Given the description of an element on the screen output the (x, y) to click on. 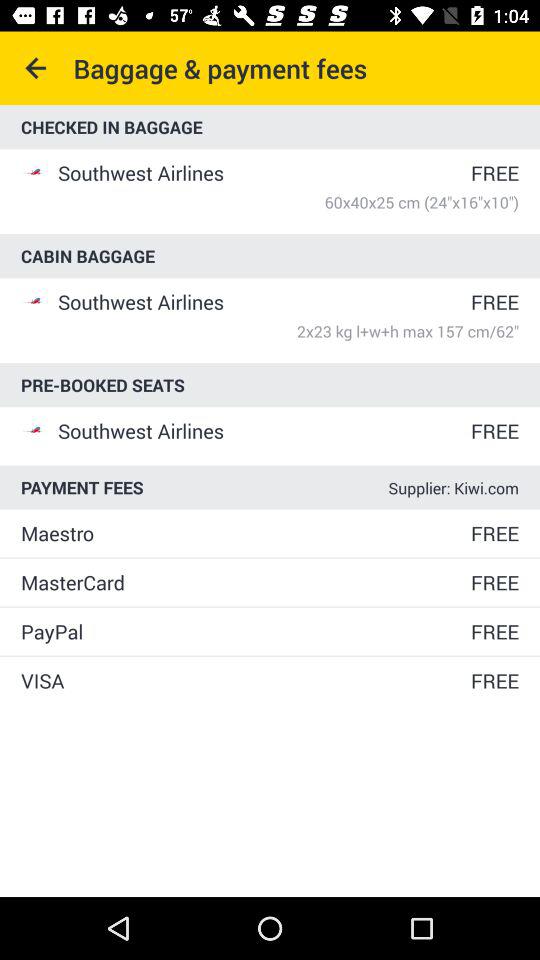
tap the icon above mastercard (244, 533)
